Given the description of an element on the screen output the (x, y) to click on. 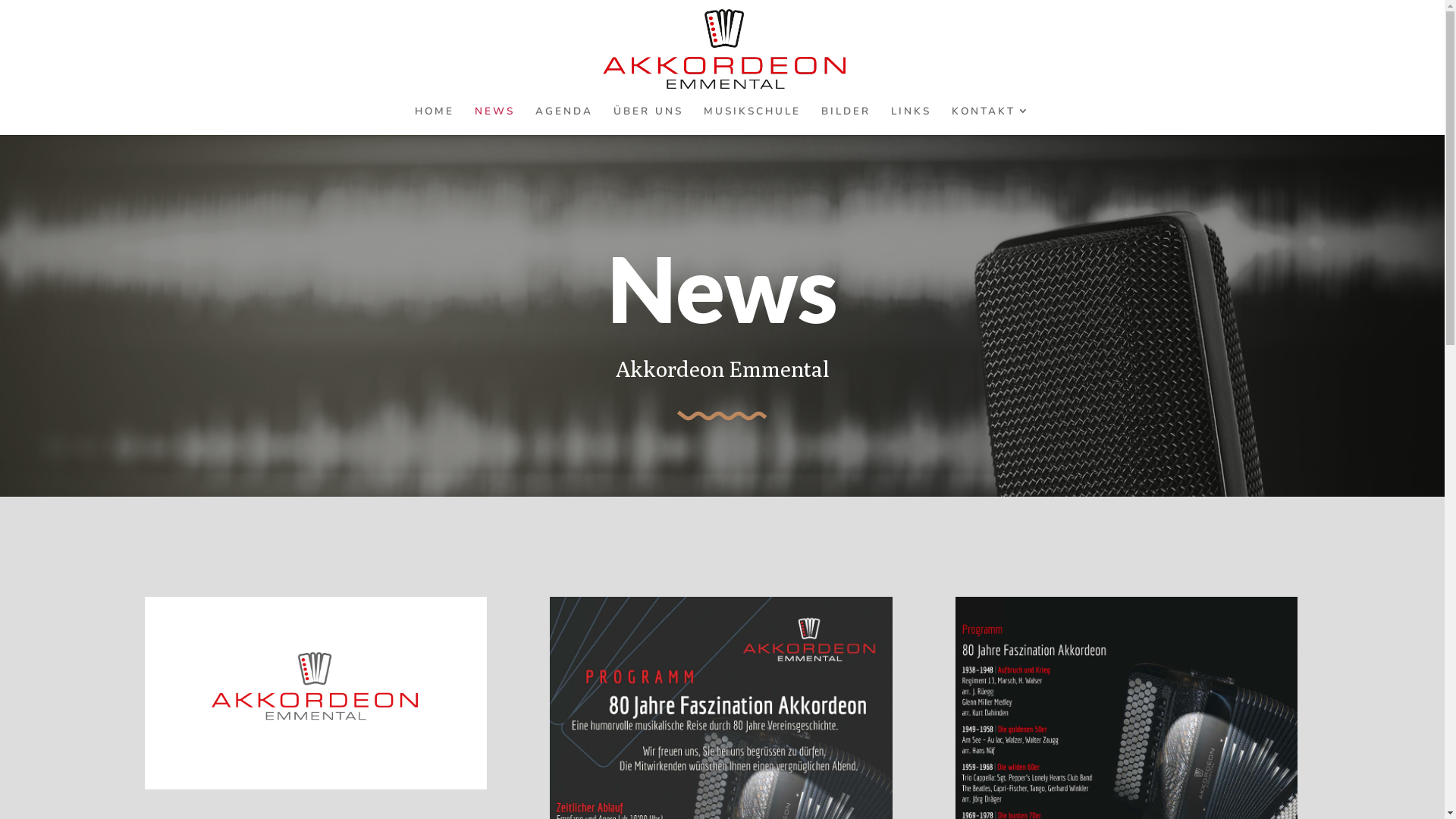
BILDER Element type: text (844, 119)
LINKS Element type: text (910, 119)
KONTAKT Element type: text (989, 119)
HOME Element type: text (433, 119)
AGENDA Element type: text (564, 119)
NEWS Element type: text (494, 119)
